Given the description of an element on the screen output the (x, y) to click on. 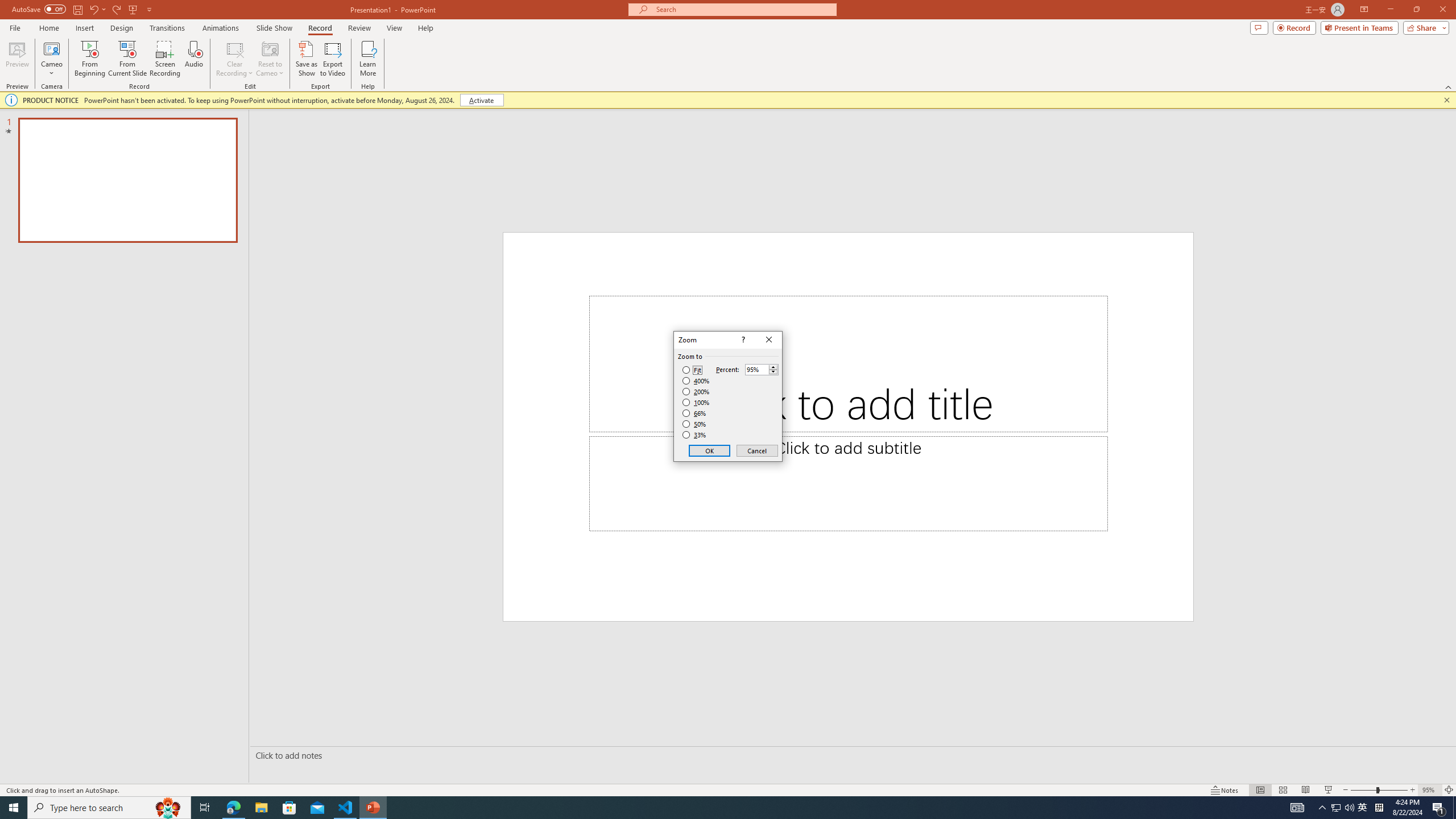
200% (696, 391)
Close this message (1446, 99)
